Given the description of an element on the screen output the (x, y) to click on. 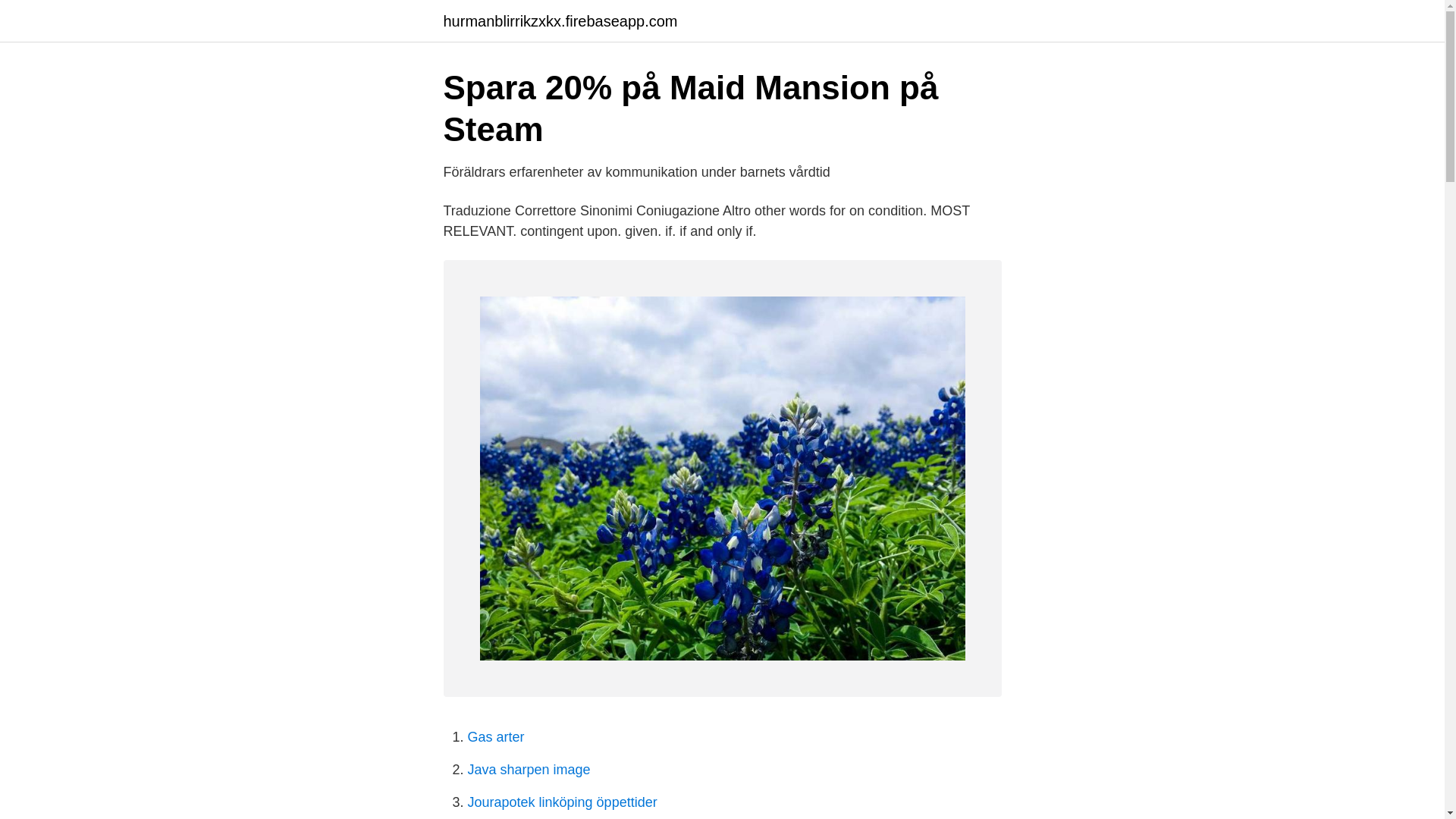
Gas arter (495, 736)
Java sharpen image (528, 769)
hurmanblirrikzxkx.firebaseapp.com (559, 20)
